Given the description of an element on the screen output the (x, y) to click on. 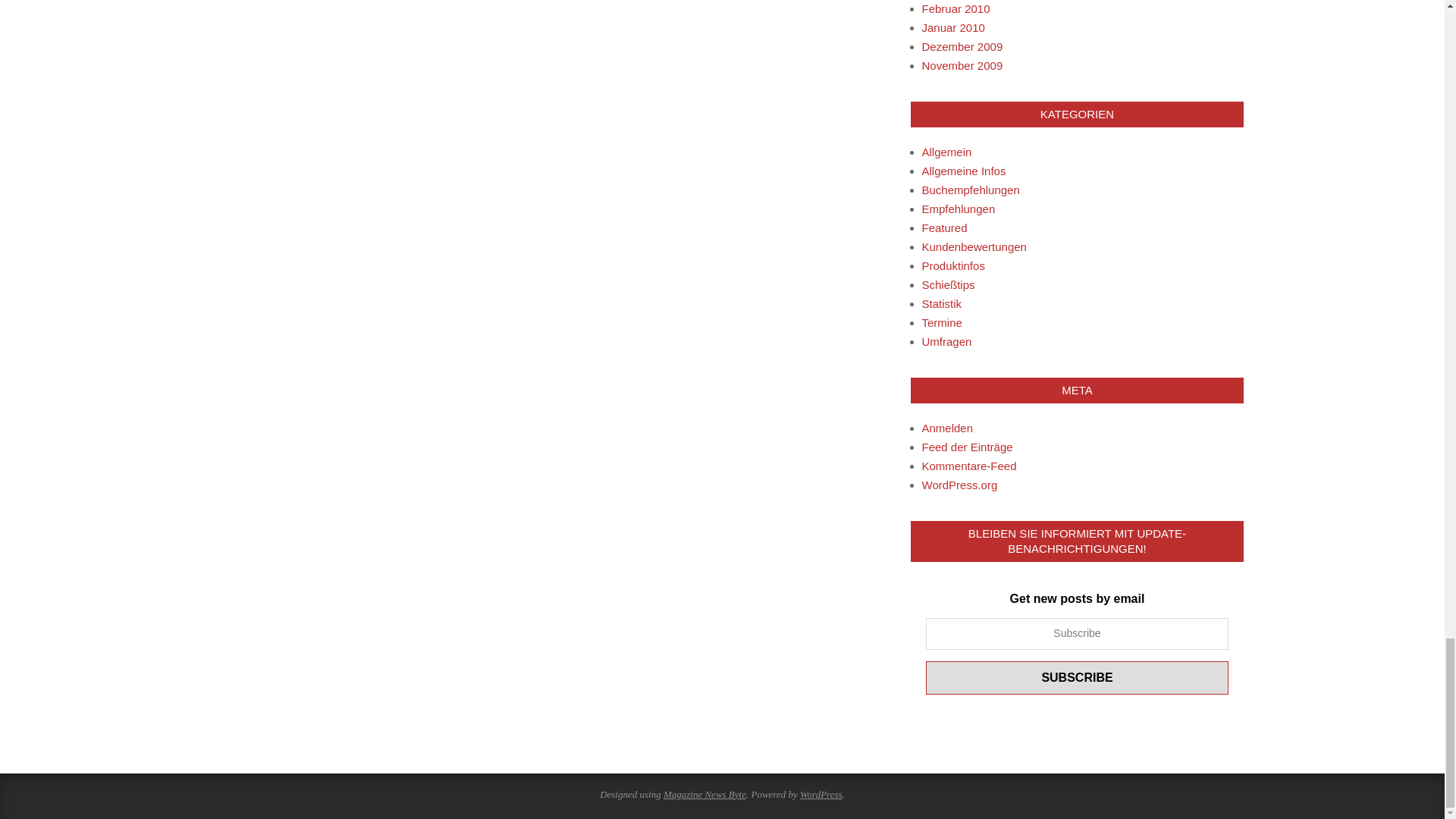
Subscribe (1076, 677)
Magazine News Byte WordPress Theme (704, 794)
